Given the description of an element on the screen output the (x, y) to click on. 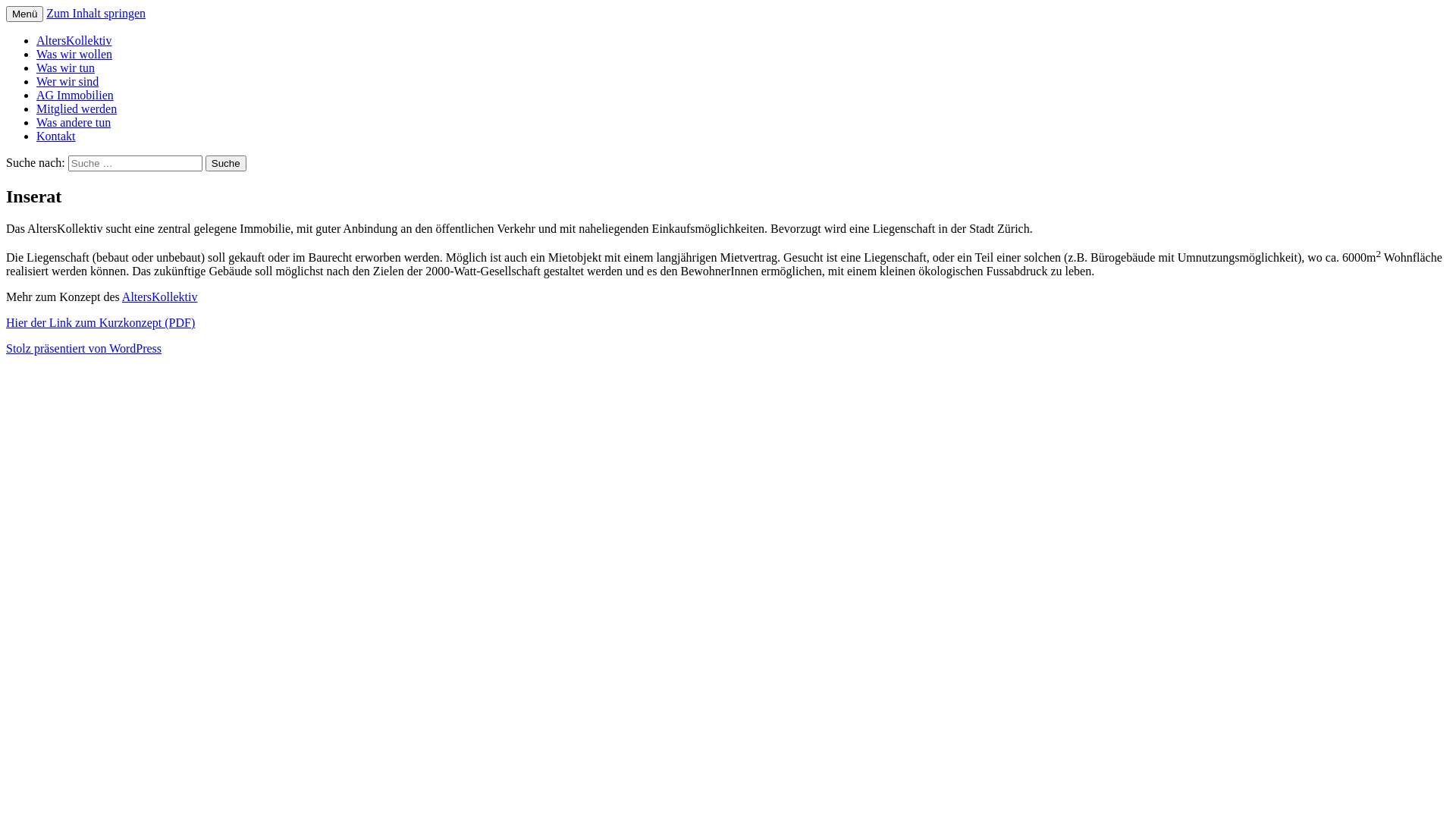
Was wir tun Element type: text (65, 67)
Wer wir sind Element type: text (67, 81)
Was andere tun Element type: text (73, 122)
AG Immobilien Element type: text (74, 94)
AltersKollektiv Element type: text (159, 296)
Zum Inhalt springen Element type: text (95, 12)
AltersKollektiv Element type: text (74, 40)
Mitglied werden Element type: text (76, 108)
Hier der Link zum Kurzkonzept (PDF) Element type: text (100, 322)
Suche Element type: text (225, 163)
Was wir wollen Element type: text (74, 53)
Kontakt Element type: text (55, 135)
